Given the description of an element on the screen output the (x, y) to click on. 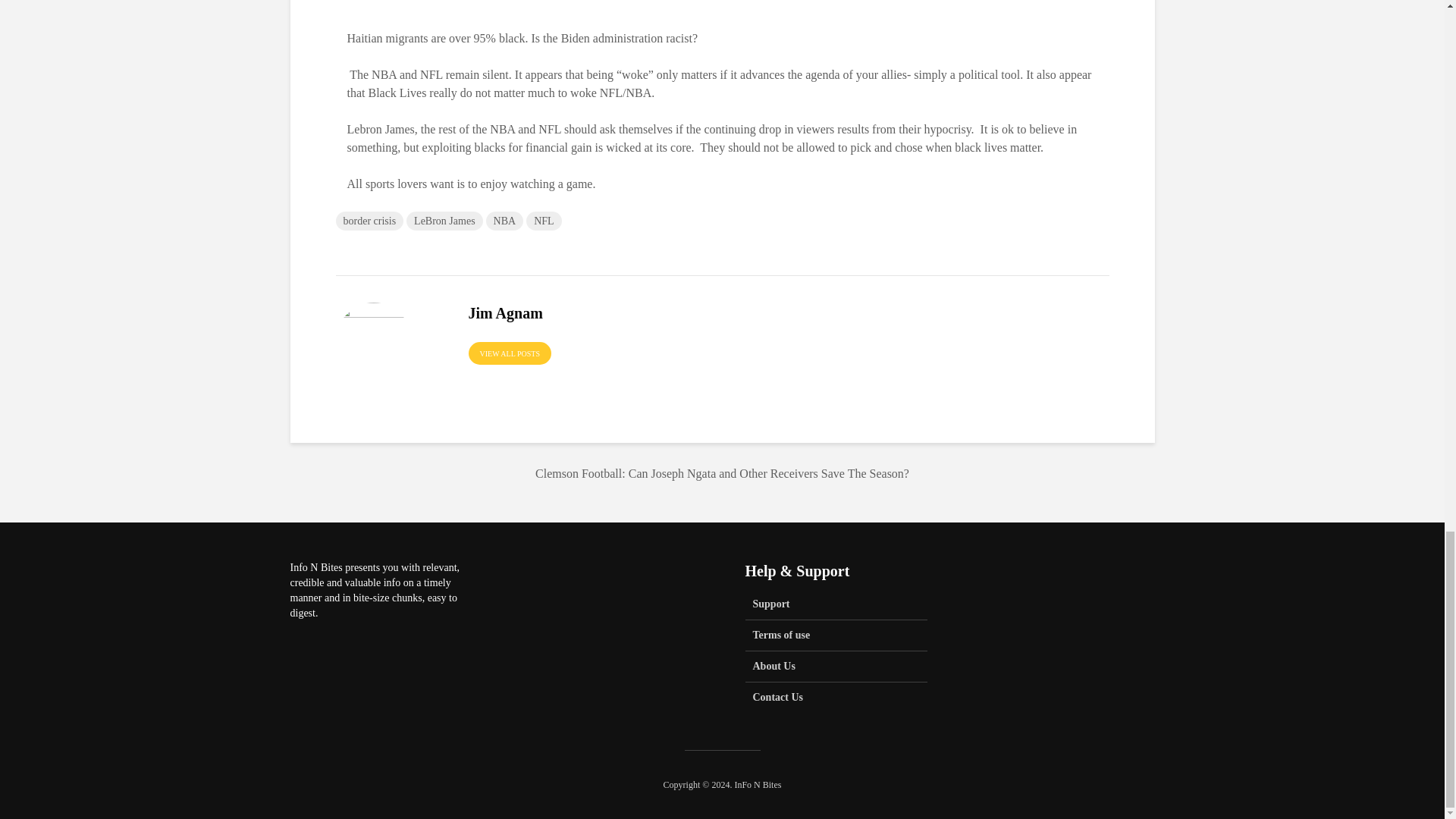
border crisis (368, 220)
NBA (505, 220)
LeBron James (443, 220)
NFL (542, 220)
About Us (835, 666)
Terms of use (835, 635)
VIEW ALL POSTS (509, 353)
Support (835, 608)
